Given the description of an element on the screen output the (x, y) to click on. 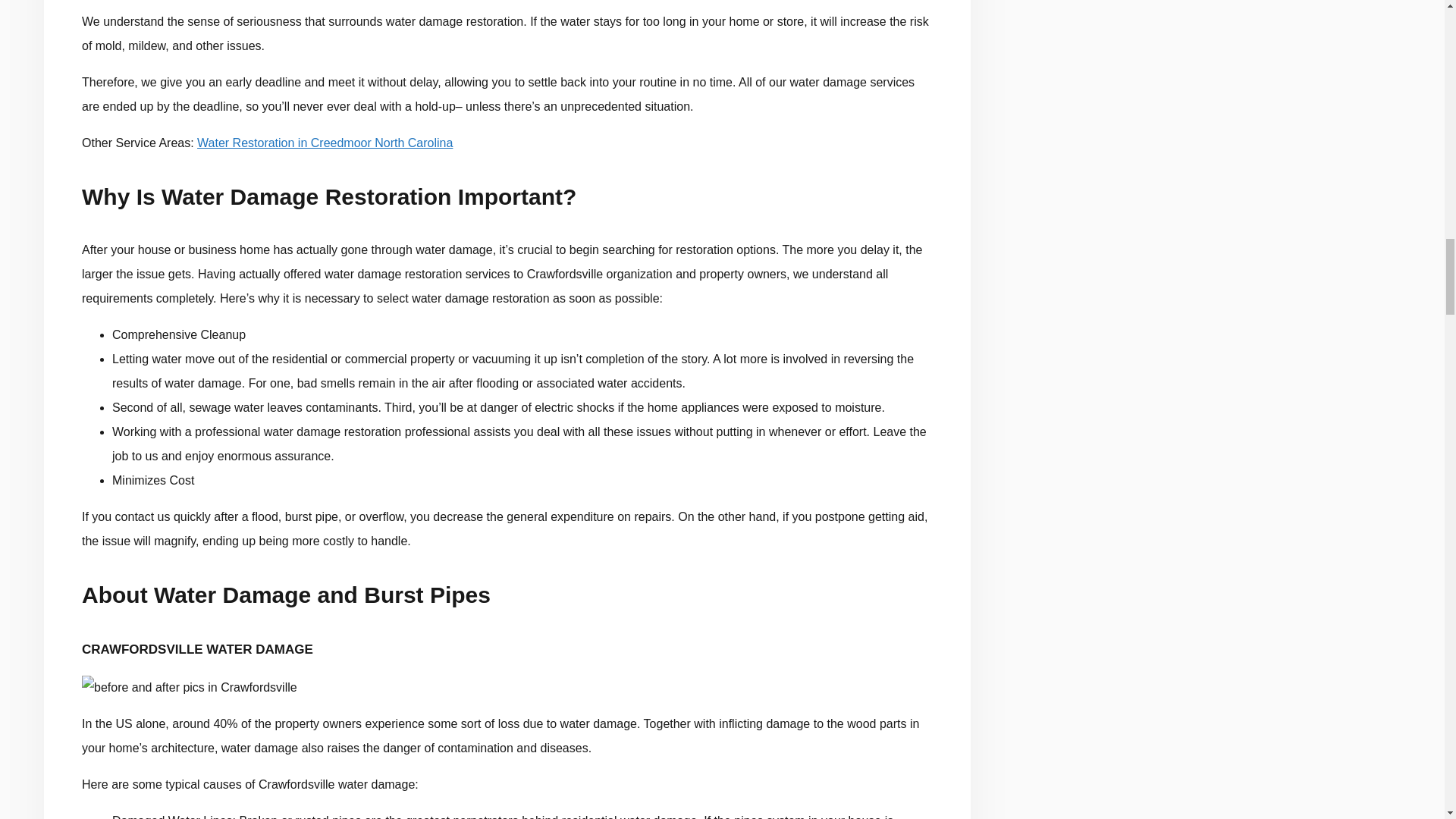
Water Restoration in Creedmoor North Carolina (324, 142)
